Given the description of an element on the screen output the (x, y) to click on. 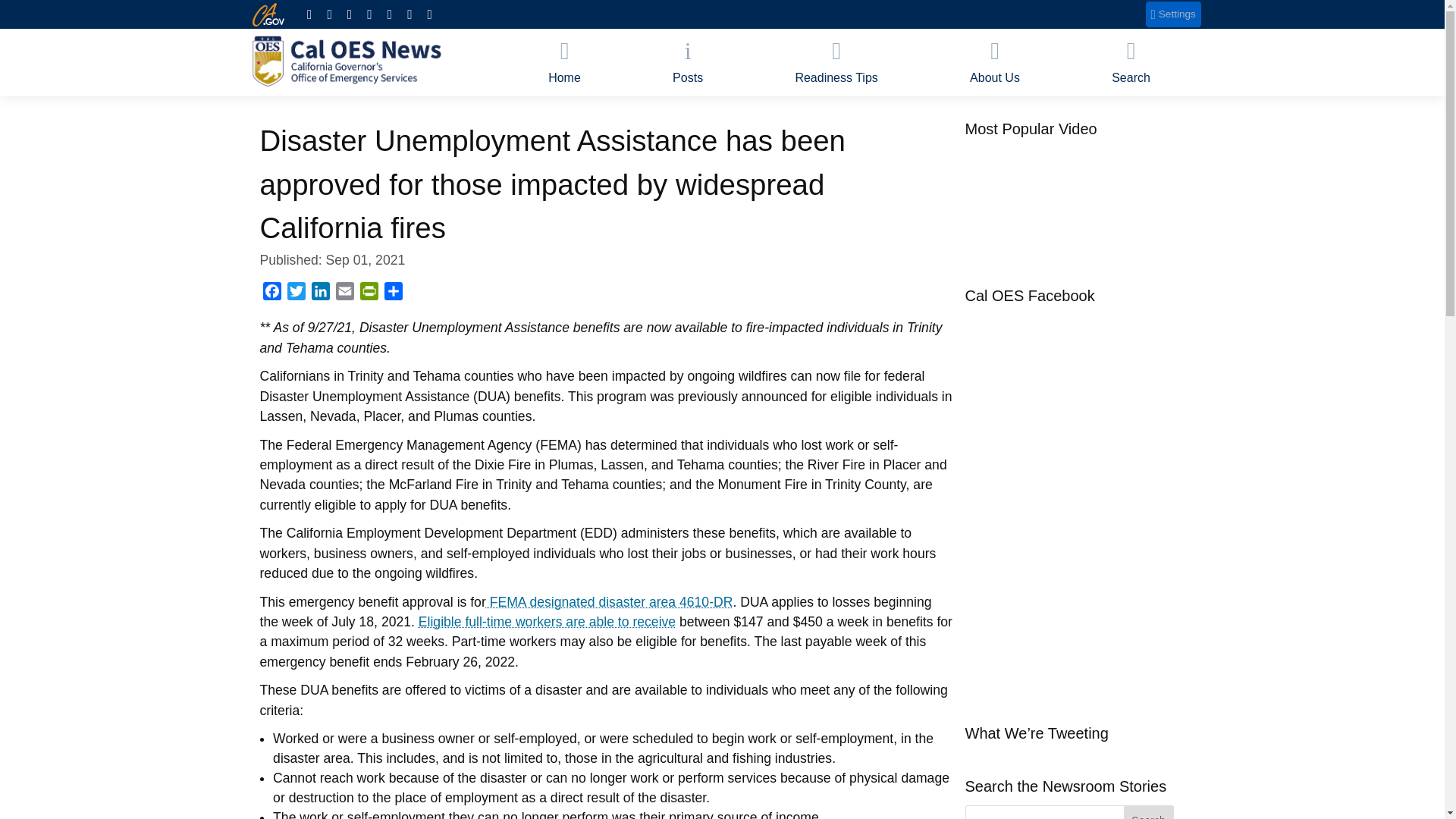
Posts (687, 62)
Email (343, 293)
CA.gov (267, 14)
Settings (1173, 14)
Twitter (295, 293)
Twitter (295, 293)
Share (392, 293)
Facebook (271, 293)
FEMA designated disaster area 4610-DR (609, 601)
Readiness Tips (836, 62)
CA.gov website (267, 14)
LinkedIn (319, 293)
Email (343, 293)
Facebook (271, 293)
About Us (994, 62)
